Given the description of an element on the screen output the (x, y) to click on. 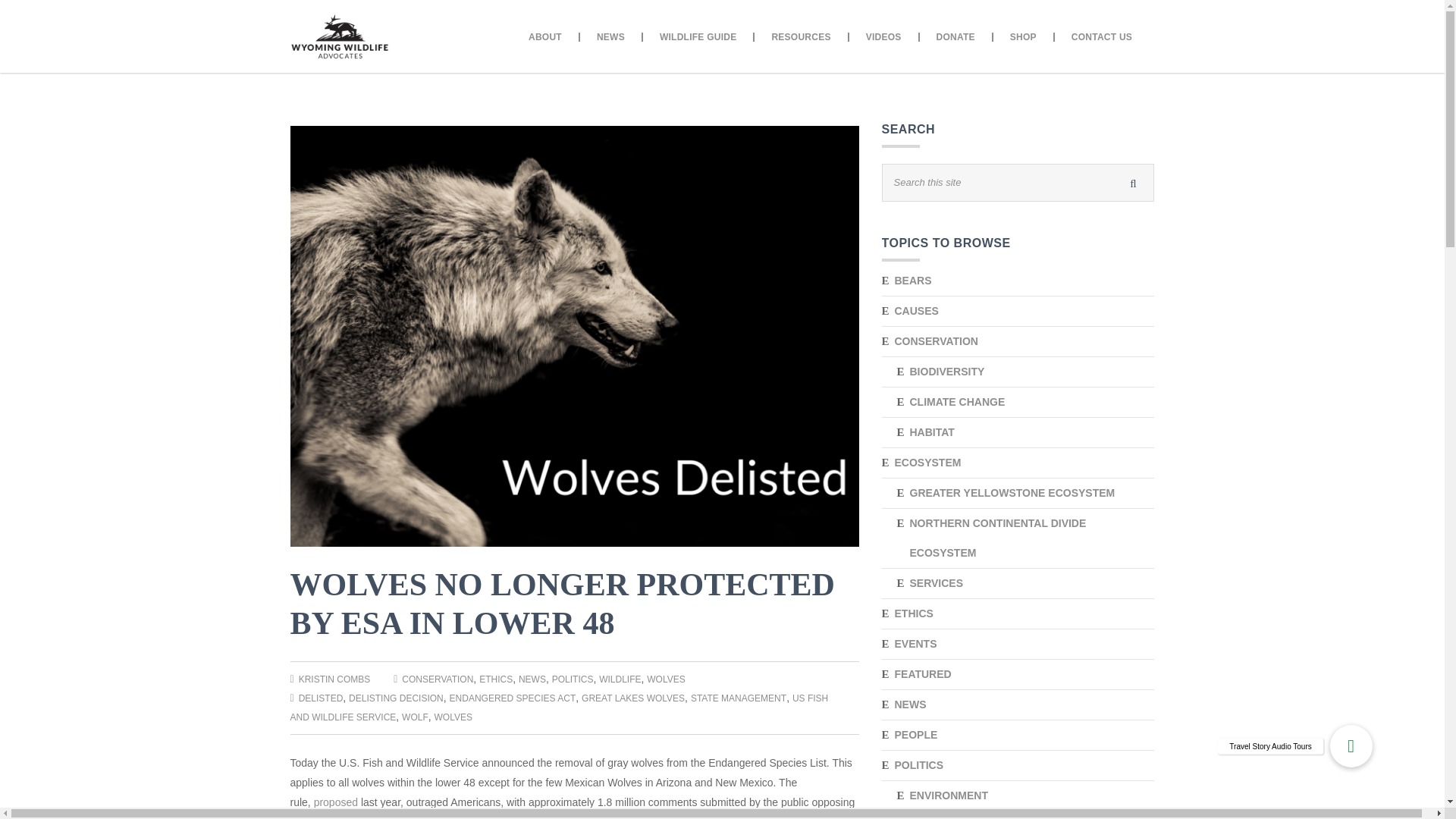
STATE MANAGEMENT (738, 697)
US FISH AND WILDLIFE SERVICE (558, 707)
Senate (642, 817)
CONSERVATION (437, 679)
CONTACT US (1101, 37)
ENDANGERED SPECIES ACT (512, 697)
KRISTIN COMBS (334, 679)
WOLF (414, 716)
WILDLIFE GUIDE (699, 37)
VIDEOS (884, 37)
DELISTING DECISION (396, 697)
DELISTED (320, 697)
businesses (786, 817)
NEWS (532, 679)
RESOURCES (801, 37)
